Given the description of an element on the screen output the (x, y) to click on. 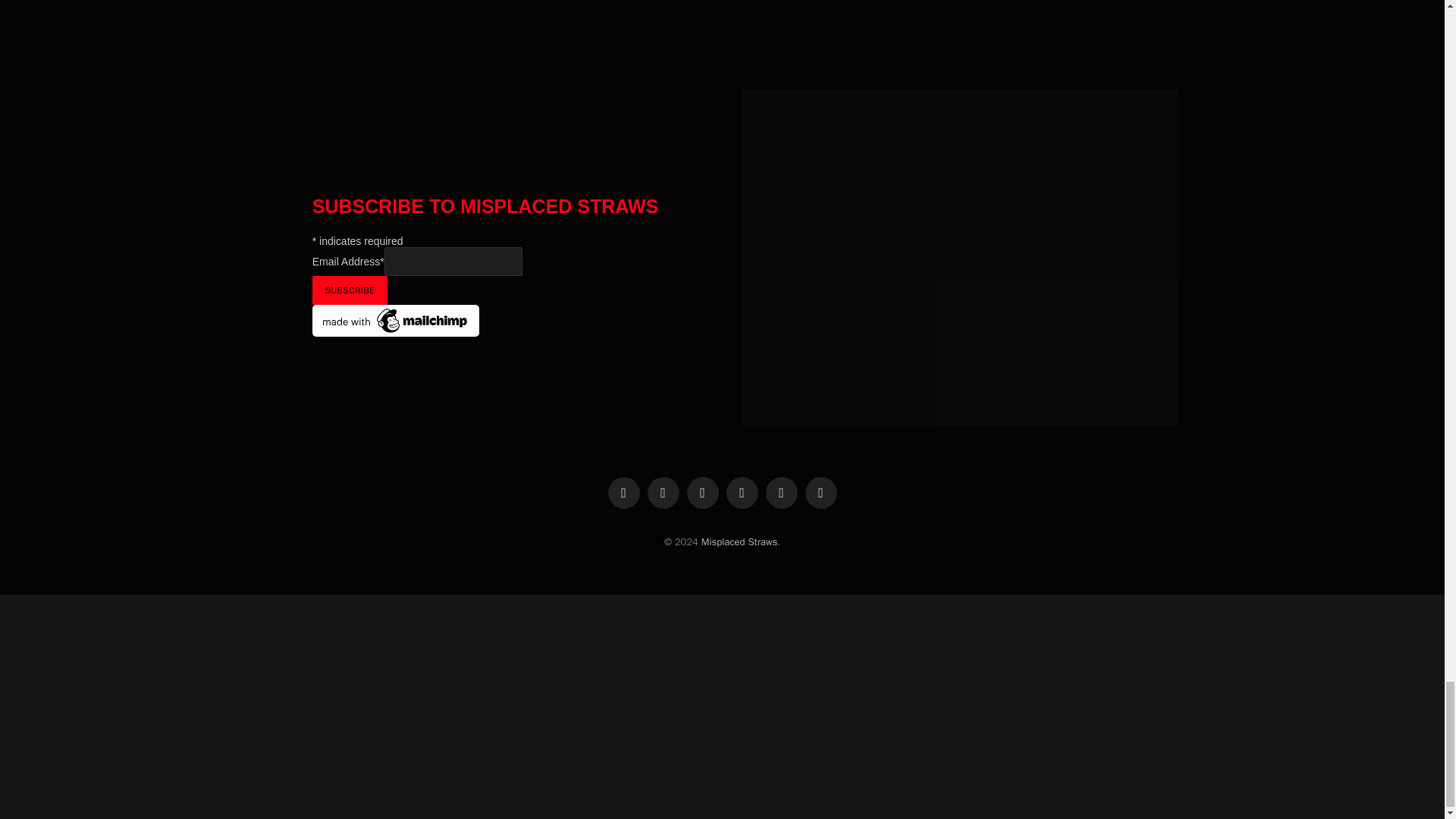
Subscribe (350, 290)
